Given the description of an element on the screen output the (x, y) to click on. 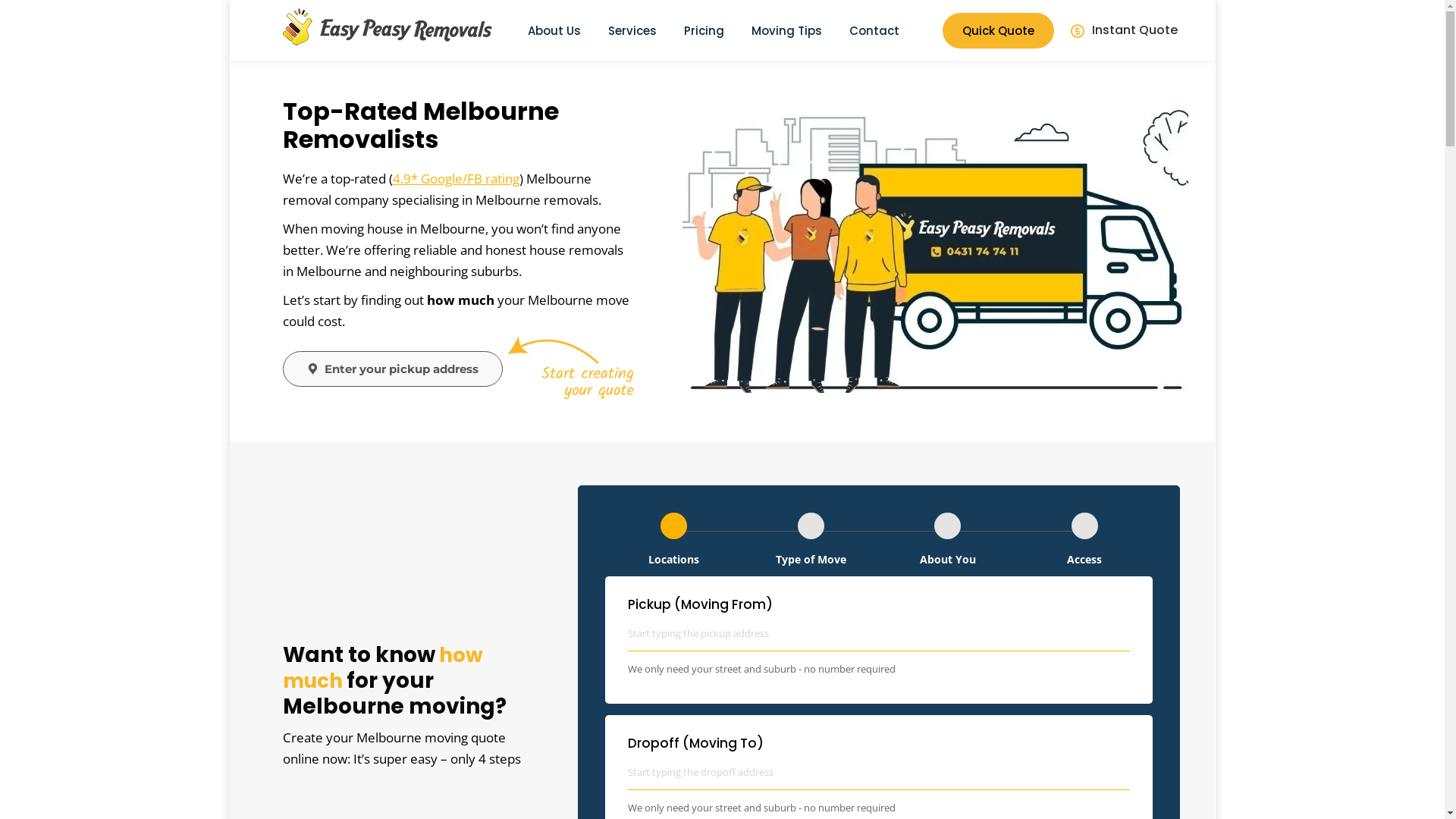
Contact Element type: text (874, 30)
Enter your pickup address Element type: text (392, 368)
Services Element type: text (632, 30)
Start creating your quote Element type: hover (572, 366)
4.9* Google/FB rating Element type: text (455, 178)
Instant Quote Element type: text (1122, 29)
Moving Tips Element type: text (786, 30)
Quick Quote Element type: text (998, 29)
Pricing Element type: text (704, 30)
About Us Element type: text (553, 30)
